Given the description of an element on the screen output the (x, y) to click on. 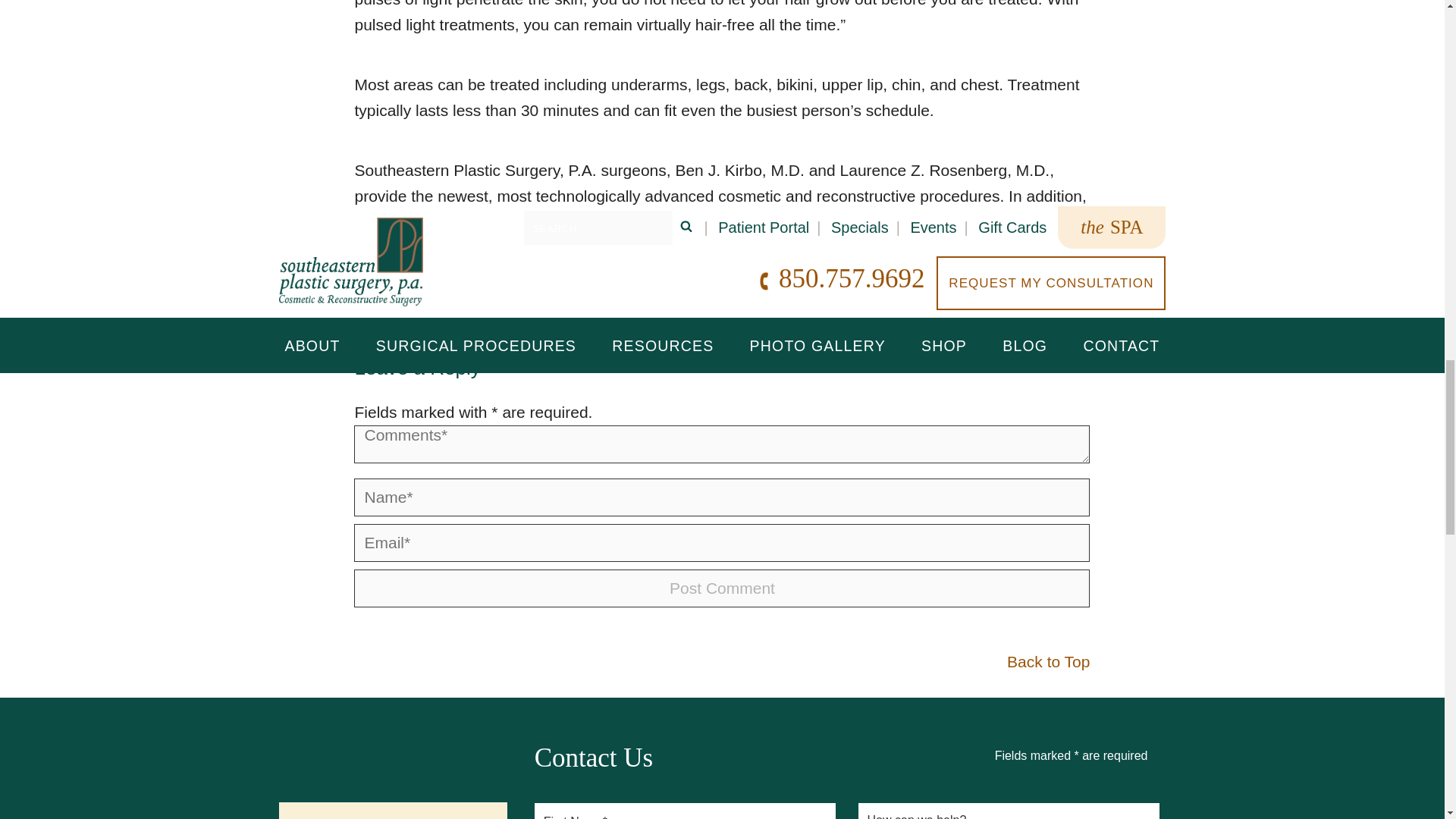
Post Comment (721, 588)
